Given the description of an element on the screen output the (x, y) to click on. 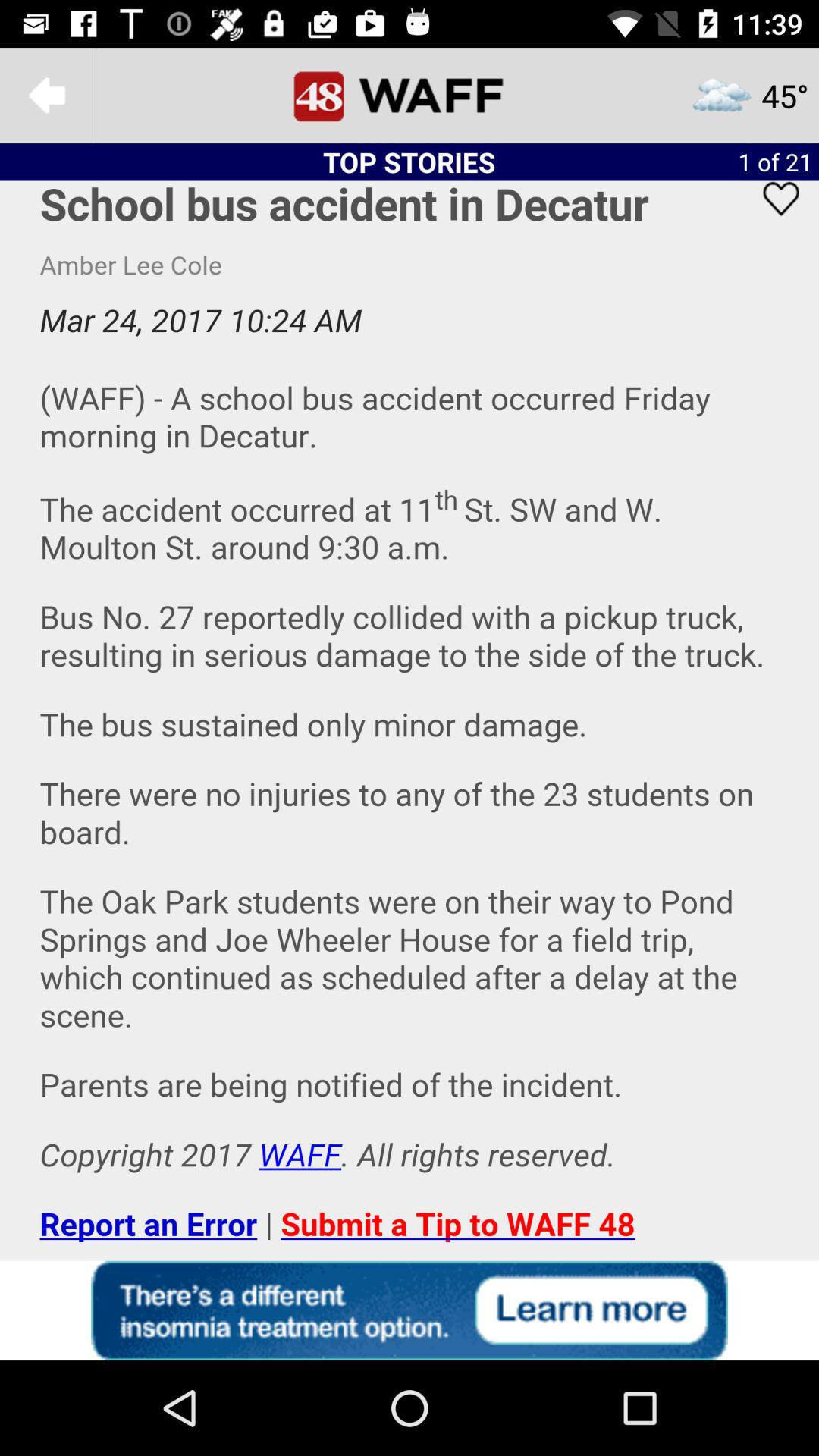
favorite article (771, 218)
